Given the description of an element on the screen output the (x, y) to click on. 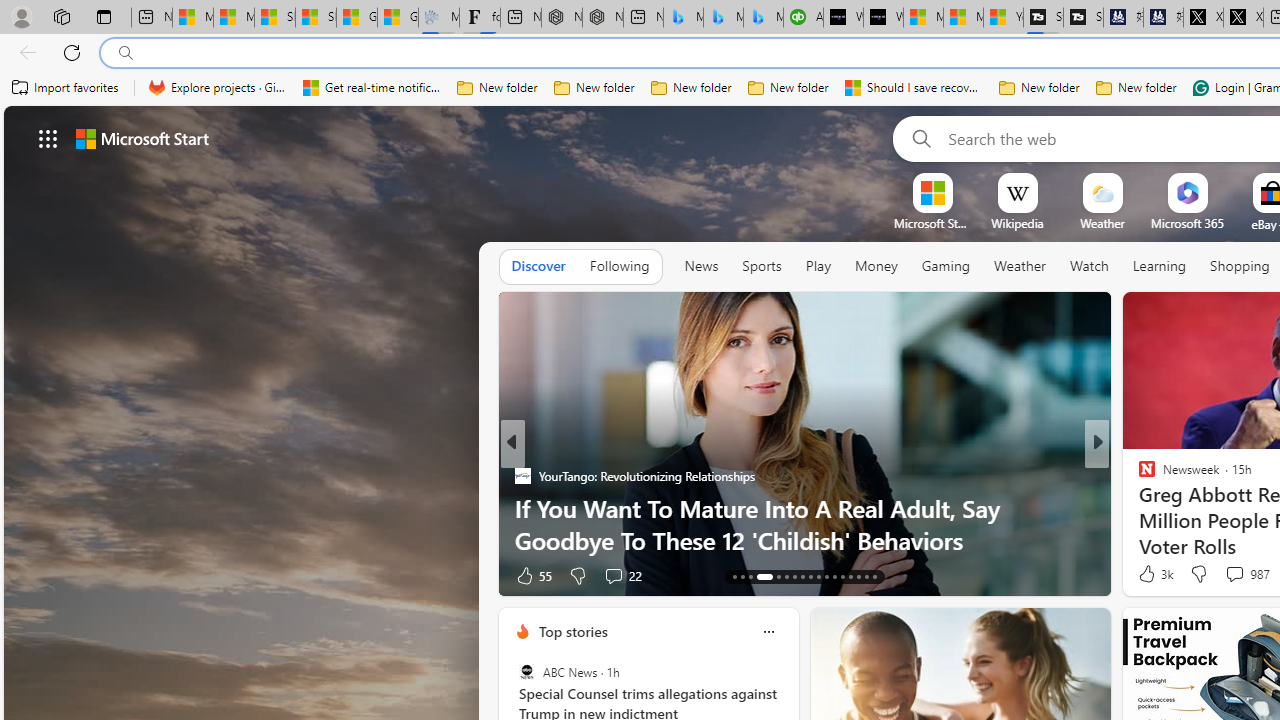
241 Like (1151, 574)
View comments 987 Comment (1234, 573)
Learning (1159, 267)
View comments 22 Comment (1244, 574)
AutomationID: tab-15 (750, 576)
View comments 174 Comment (1234, 575)
79 Like (1149, 574)
Play (817, 265)
3k Like (1154, 574)
14 Like (1149, 574)
AutomationID: tab-23 (825, 576)
Class: control (47, 138)
